Given the description of an element on the screen output the (x, y) to click on. 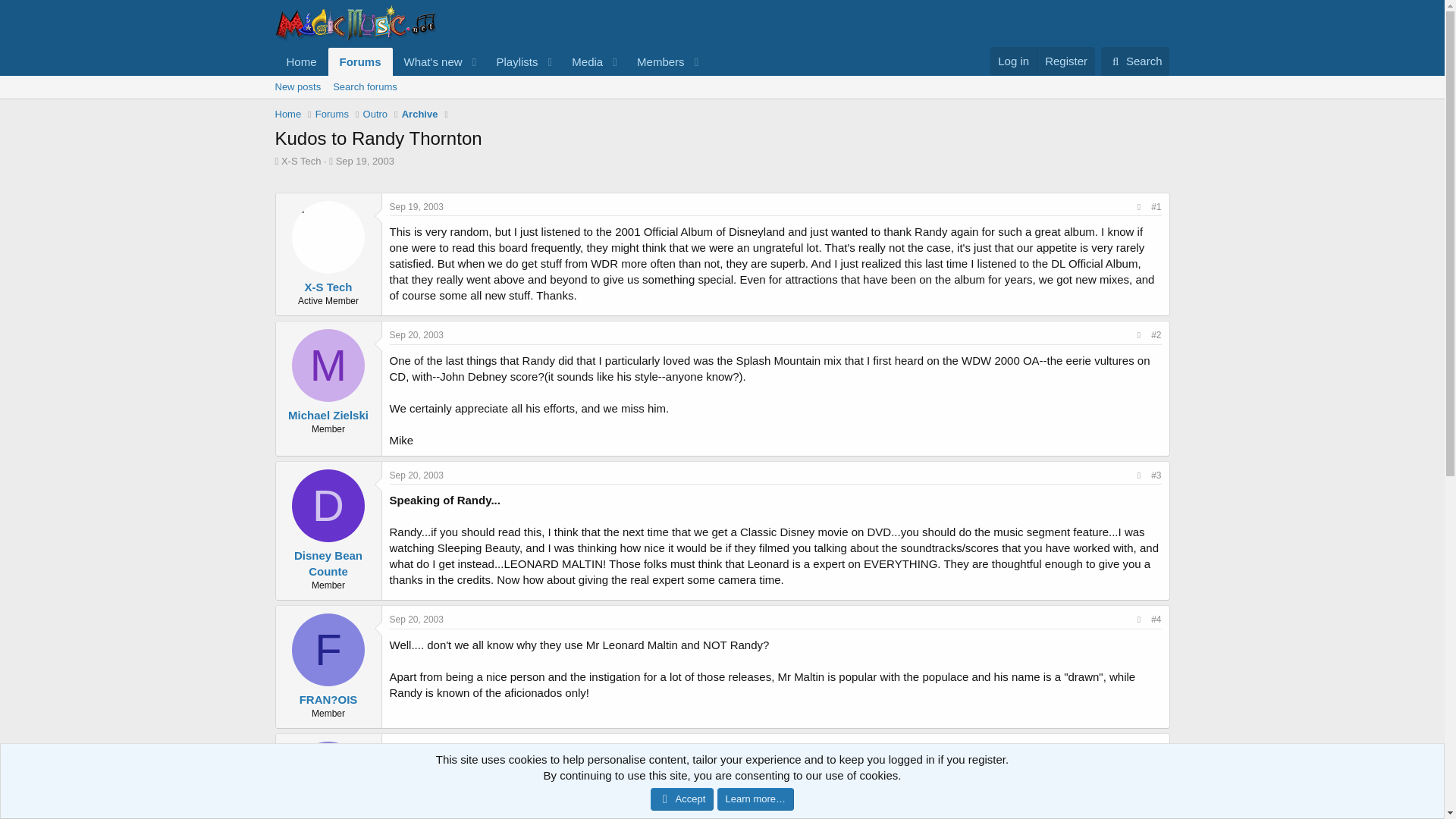
Search (1135, 61)
Forums (361, 61)
Playlists (511, 61)
Home (490, 78)
Log in (301, 61)
Search (1013, 60)
Sep 19, 2003 at 4:19 PM (1135, 61)
Sep 20, 2003 at 11:31 AM (720, 104)
